Given the description of an element on the screen output the (x, y) to click on. 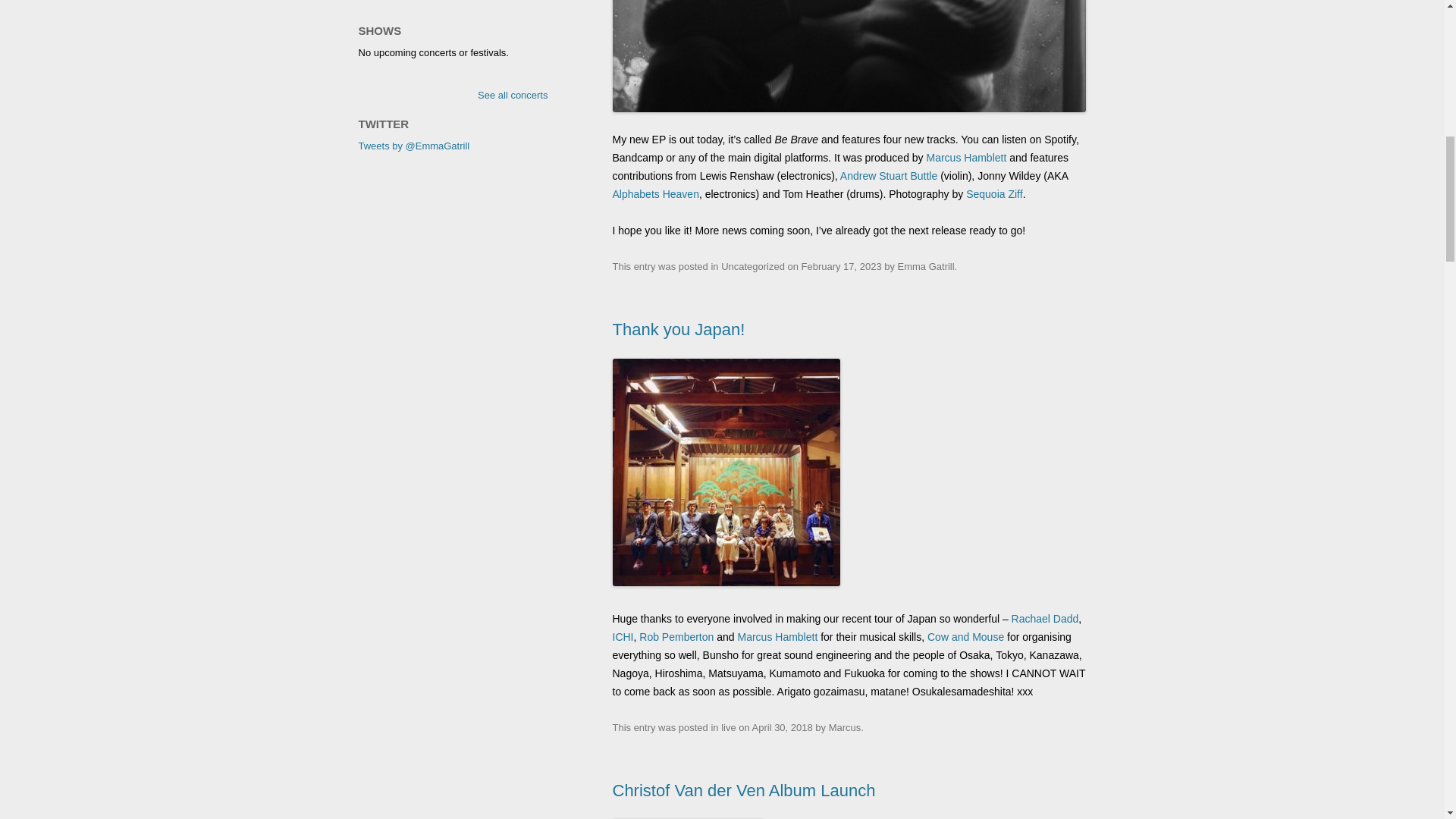
9:36 pm (842, 266)
Rachael Dadd (1044, 618)
ICHI (622, 636)
Permalink to Christof Van der Ven Album Launch (744, 790)
View all posts by Marcus (844, 727)
Christof Van der Ven Album Launch (744, 790)
Marcus Hamblett (966, 157)
Permalink to Thank you Japan! (678, 329)
April 30, 2018 (782, 727)
February 17, 2023 (842, 266)
10:47 am (782, 727)
Sequoia Ziff (994, 193)
Marcus (844, 727)
Marcus Hamblett (776, 636)
Thank you Japan! (678, 329)
